Given the description of an element on the screen output the (x, y) to click on. 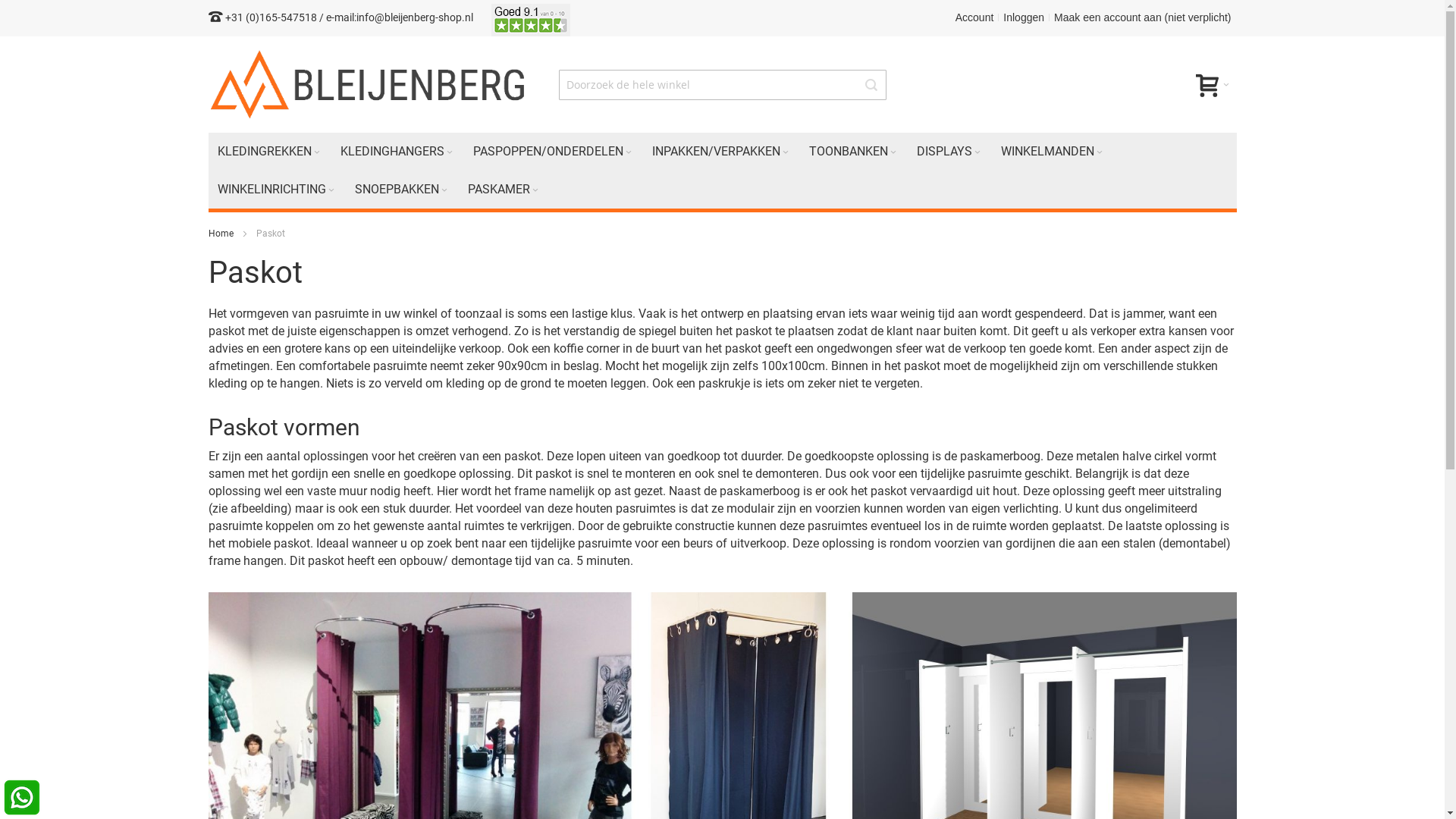
Inloggen Element type: text (1023, 17)
SNOEPBAKKEN Element type: text (401, 189)
Account Element type: text (974, 17)
/ e-mail:info@bleijenberg-shop.nl Element type: text (395, 17)
INPAKKEN/VERPAKKEN Element type: text (721, 151)
KLEDINGREKKEN Element type: text (268, 151)
Winkelbeoordeling Element type: hover (530, 17)
Home Element type: text (221, 233)
Zoek Element type: hover (870, 84)
Maak een account aan (niet verplicht) Element type: text (1142, 17)
Bleijenberg Element type: hover (368, 84)
TOONBANKEN Element type: text (852, 151)
WINKELINRICHTING Element type: text (276, 189)
PASPOPPEN/ONDERDELEN Element type: text (553, 151)
KLEDINGHANGERS Element type: text (396, 151)
PASKAMER Element type: text (503, 189)
DISPLAYS Element type: text (948, 151)
WINKELMANDEN Element type: text (1052, 151)
